Given the description of an element on the screen output the (x, y) to click on. 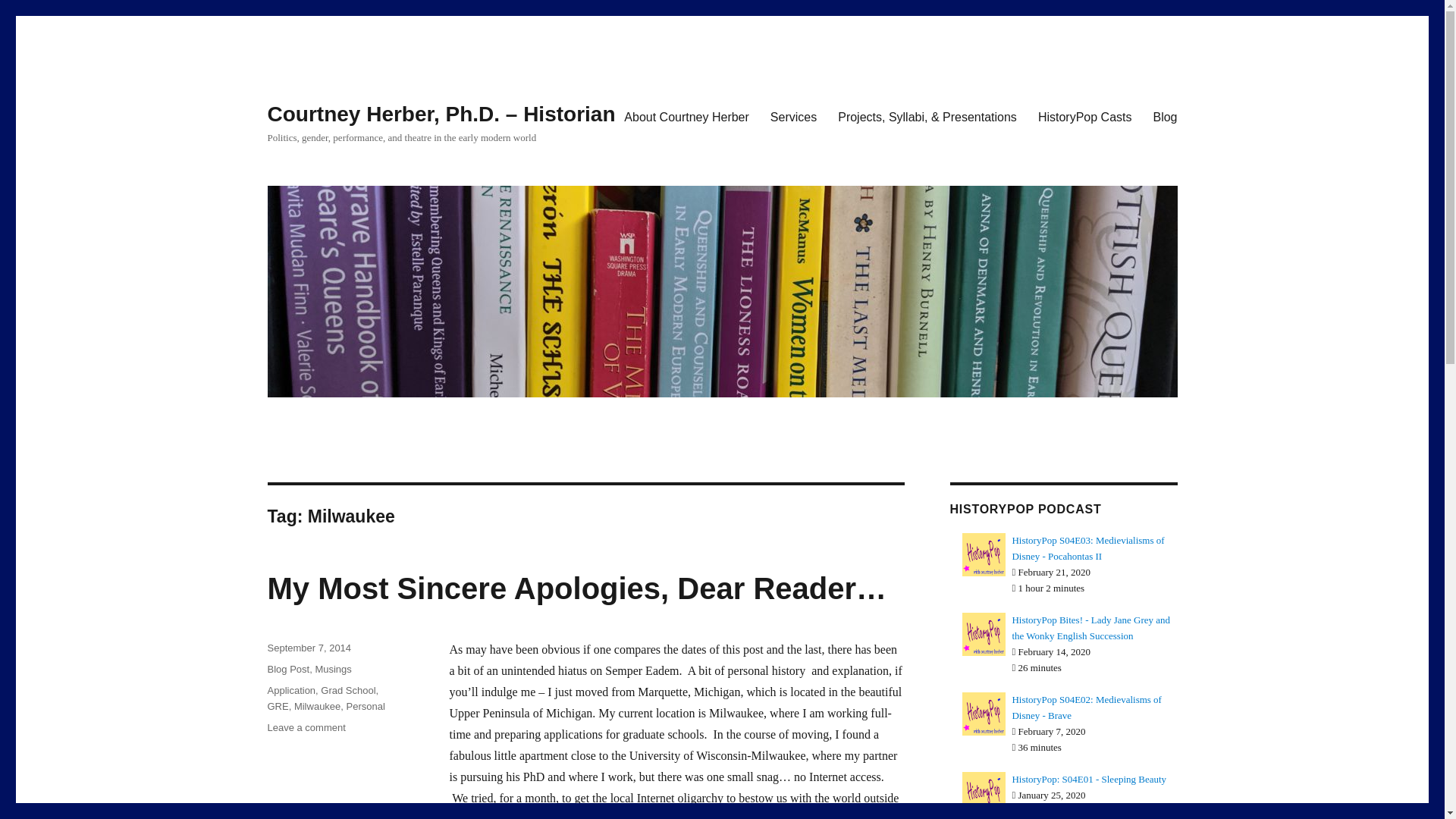
September 7, 2014 (308, 647)
HistoryPop: S04E01 - Sleeping Beauty (1088, 778)
Blog Post (287, 668)
GRE (277, 706)
HistoryPop S04E03: Medievialisms of Disney - Pocahontas II (1087, 547)
Grad School (347, 690)
HistoryPop S04E02: Medievalisms of Disney - Brave (1086, 707)
Services (793, 116)
Milwaukee (317, 706)
Personal (365, 706)
